Given the description of an element on the screen output the (x, y) to click on. 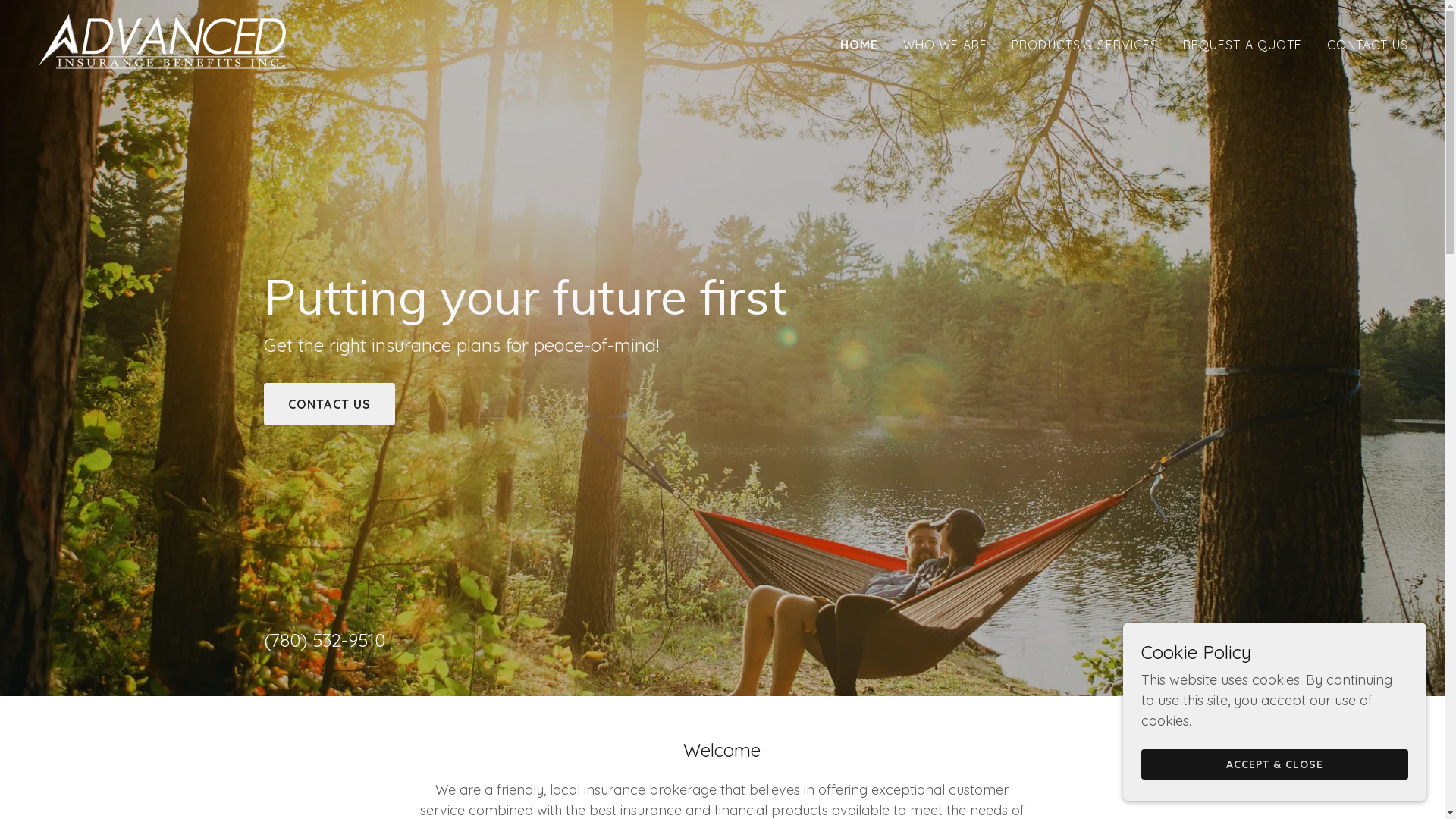
(780) 532-9510 Element type: text (324, 639)
CONTACT US Element type: text (329, 403)
CONTACT US Element type: text (1367, 43)
PRODUCTS & SERVICES Element type: text (1085, 43)
WHO WE ARE Element type: text (944, 43)
REQUEST A QUOTE Element type: text (1242, 43)
ACCEPT & CLOSE Element type: text (1274, 764)
Advanced Insurance Benefits Inc. Element type: hover (164, 41)
HOME Element type: text (859, 43)
